Given the description of an element on the screen output the (x, y) to click on. 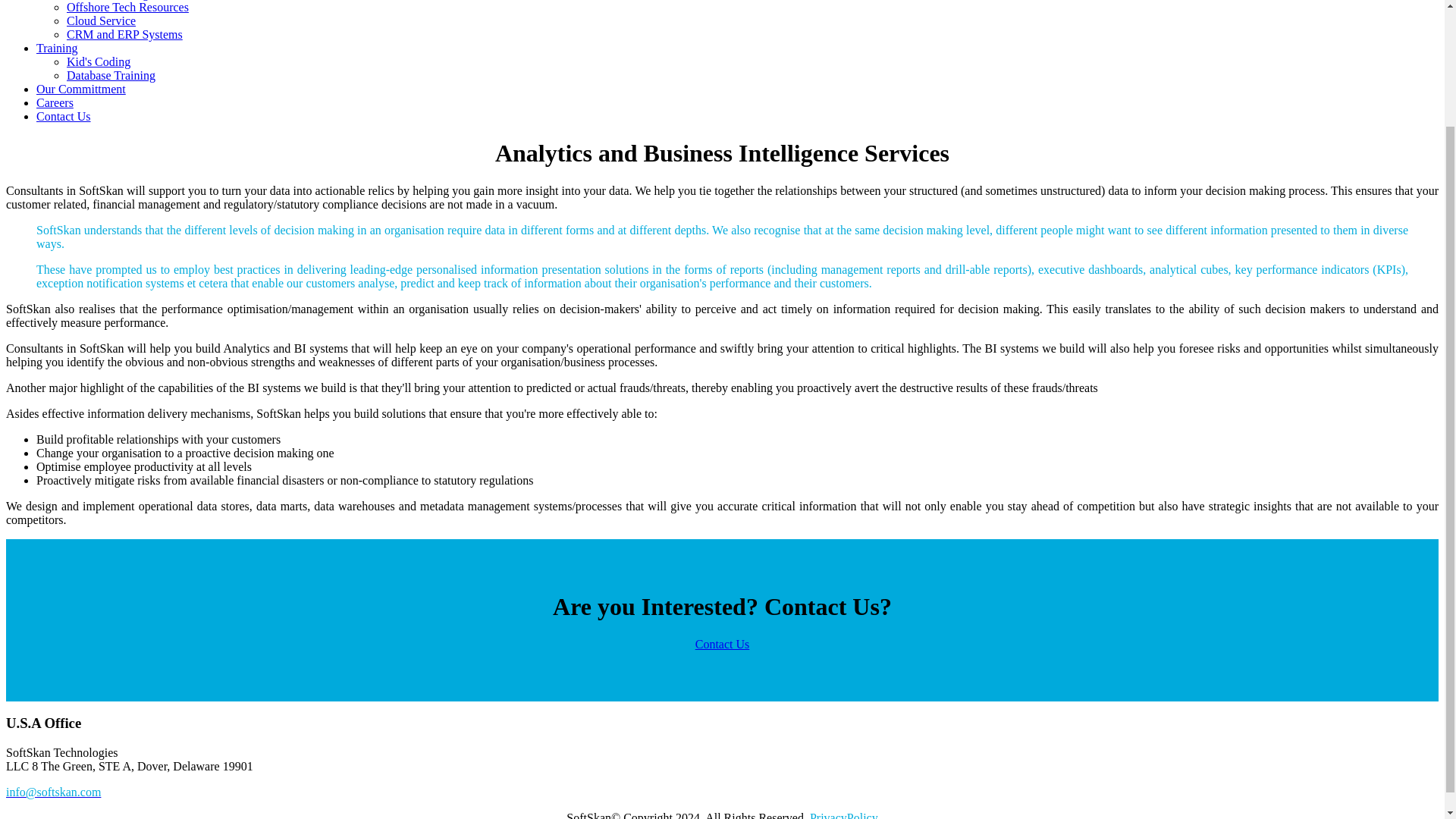
Kid's Coding (98, 61)
CRM and ERP Systems (124, 33)
Contact Us (63, 115)
Cloud Service (100, 20)
Contact Us (722, 644)
Training (57, 47)
Database Training (110, 74)
Our Committment (80, 88)
Careers (55, 102)
Offshore Tech Resources (127, 6)
